Given the description of an element on the screen output the (x, y) to click on. 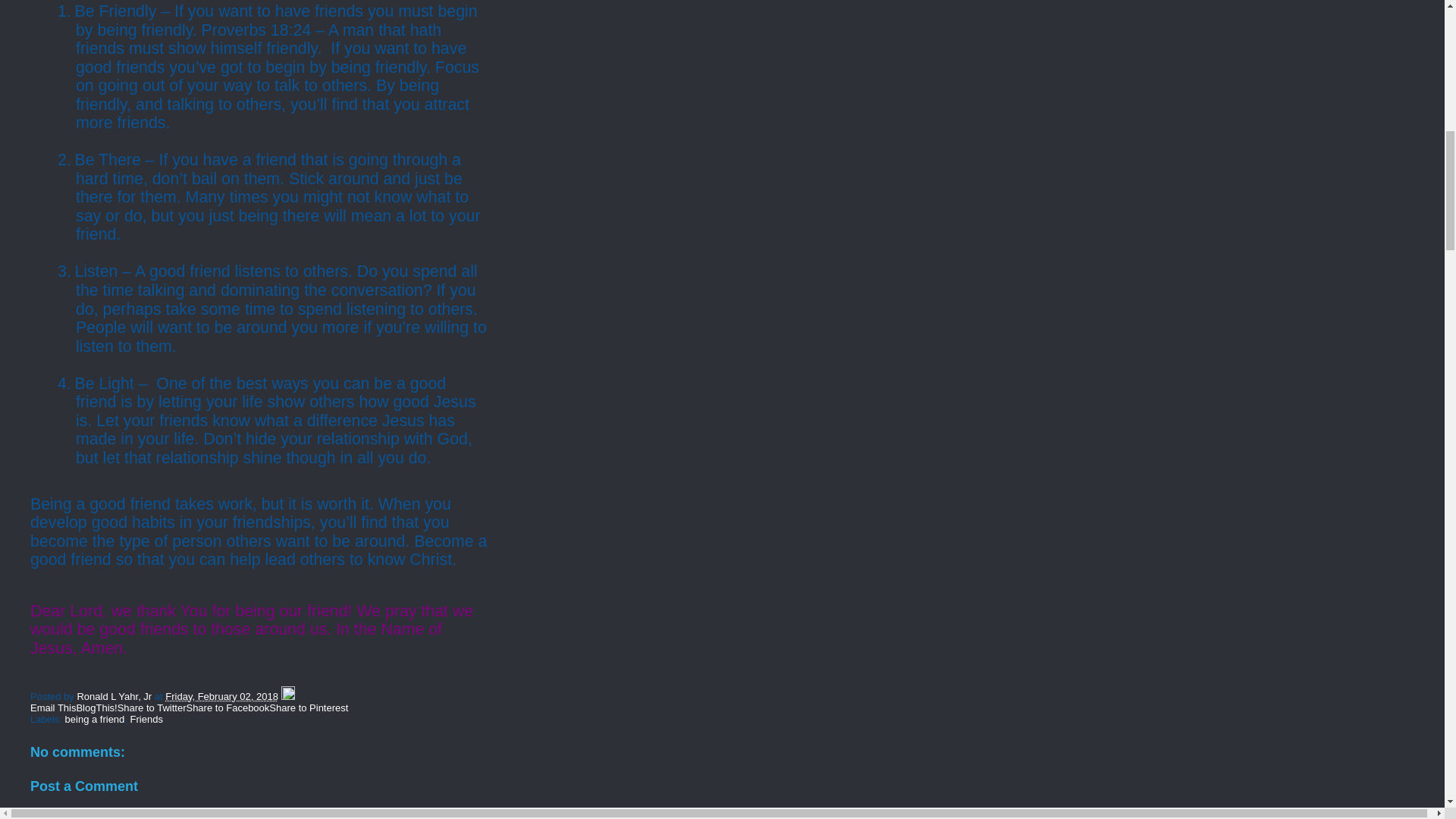
Email This (52, 707)
Share to Twitter (151, 707)
Email This (52, 707)
Share to Facebook (227, 707)
Edit Post (288, 696)
Share to Facebook (227, 707)
being a friend (95, 718)
Friends (147, 718)
Share to Pinterest (308, 707)
permanent link (221, 696)
Share to Twitter (151, 707)
BlogThis! (95, 707)
author profile (115, 696)
Share to Pinterest (308, 707)
BlogThis! (95, 707)
